Given the description of an element on the screen output the (x, y) to click on. 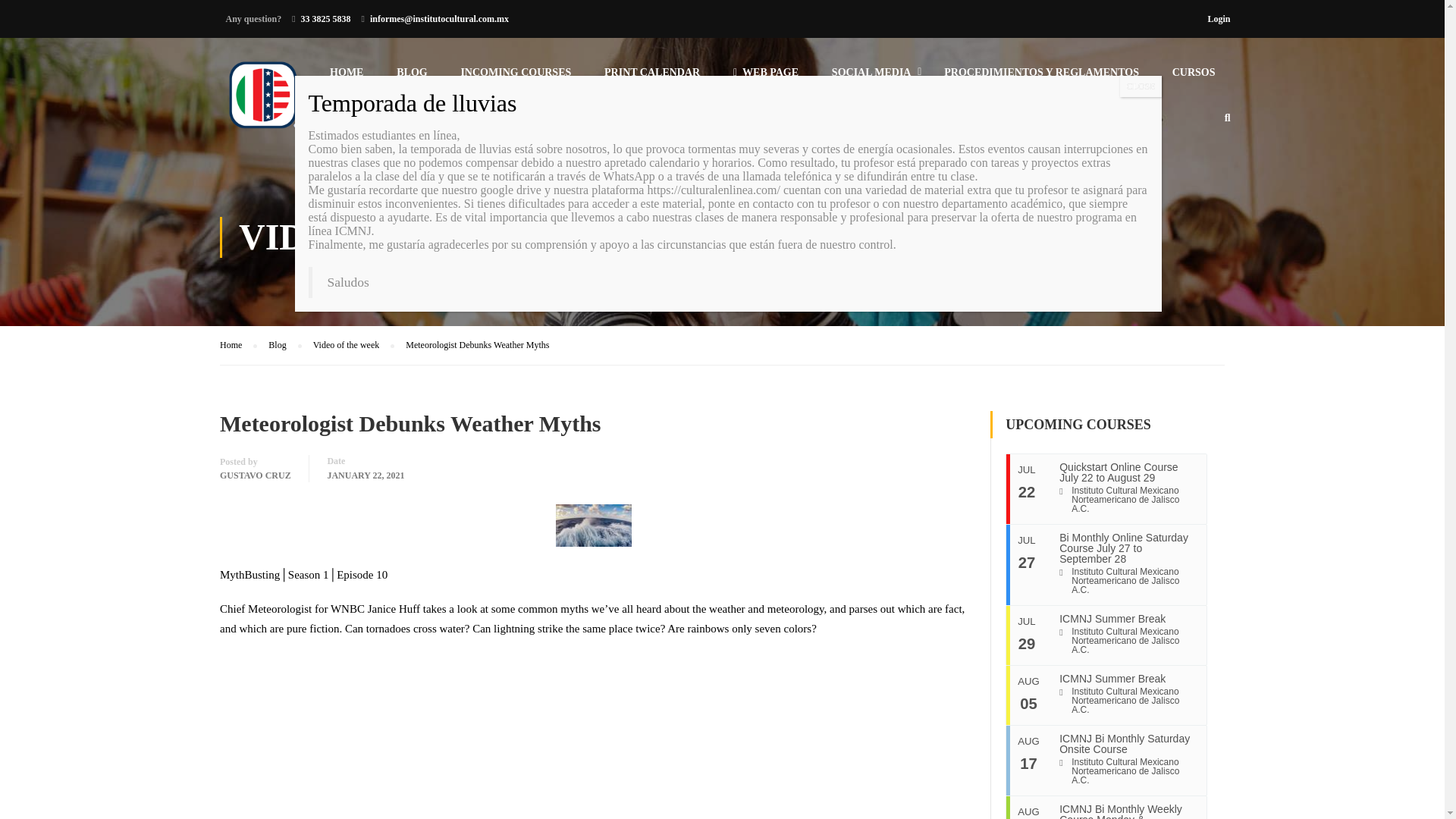
WEB PAGE (765, 79)
Blog (284, 344)
Home (238, 344)
Home (238, 344)
HOME (346, 79)
PROCEDIMIENTOS Y REGLAMENTOS (1041, 79)
Video of the week (353, 344)
Video of the week (353, 344)
Blog (284, 344)
INCOMING COURSES (515, 79)
BLOG (411, 79)
Meteorologist Debunks Weather Myths (477, 344)
33 3825 5838 (325, 18)
CURSOS (1193, 79)
Login (1218, 18)
